Given the description of an element on the screen output the (x, y) to click on. 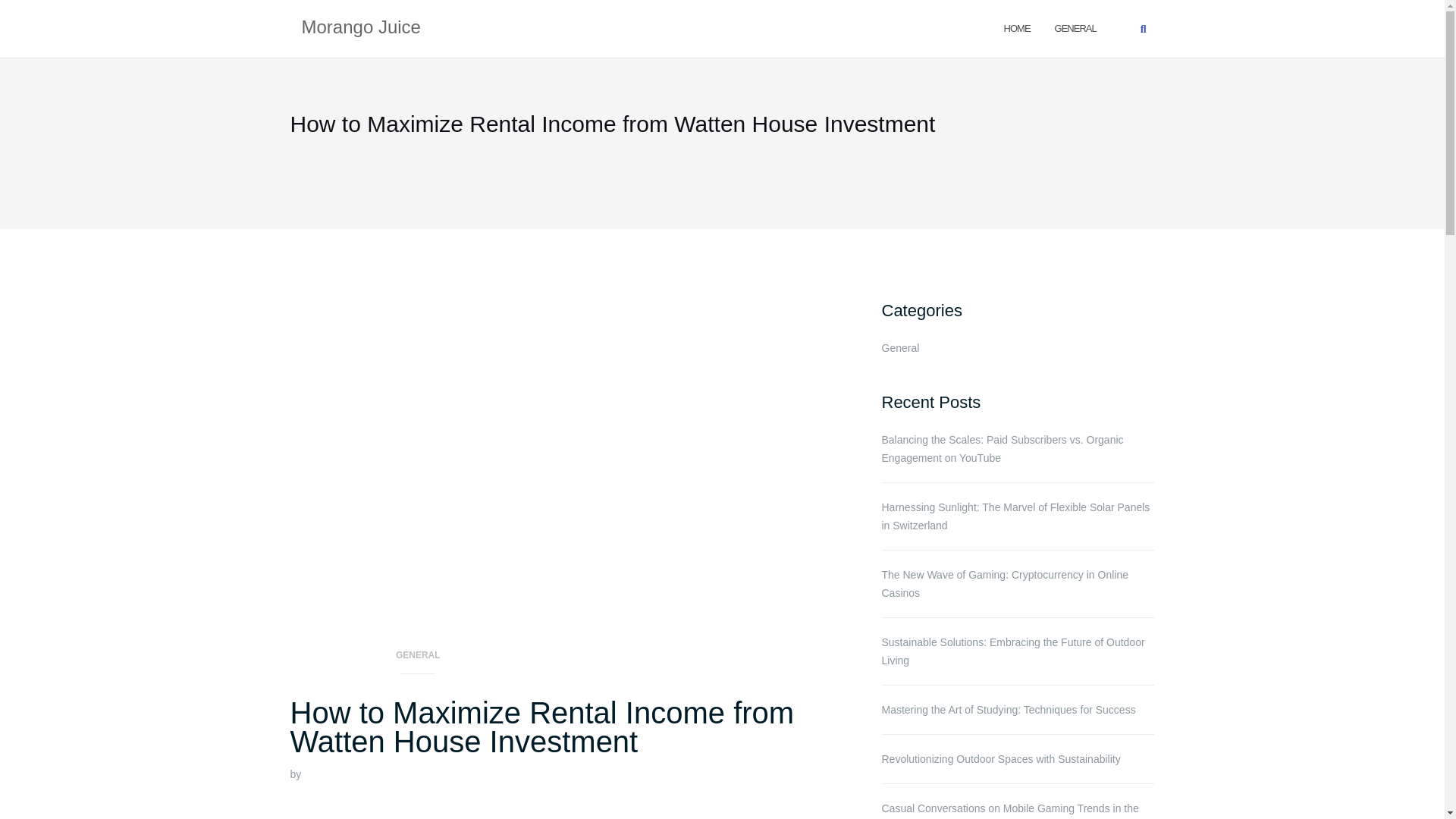
GENERAL (417, 660)
General (1075, 28)
How to Maximize Rental Income from Watten House Investment (541, 727)
GENERAL (1075, 28)
Morango Juice (360, 28)
